Given the description of an element on the screen output the (x, y) to click on. 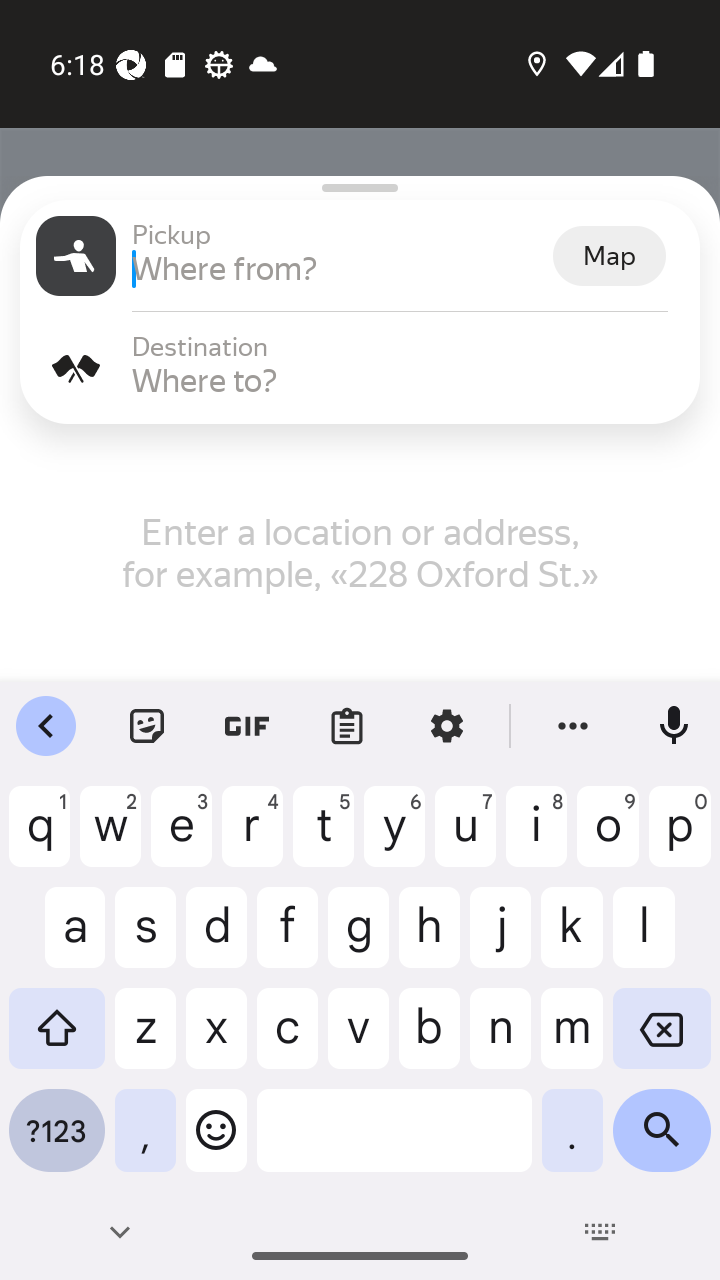
Pickup Pickup Where from? Map (359, 255)
Map (609, 256)
Where from? (340, 268)
Destination Destination Where to? (359, 367)
Where to? (407, 380)
